Given the description of an element on the screen output the (x, y) to click on. 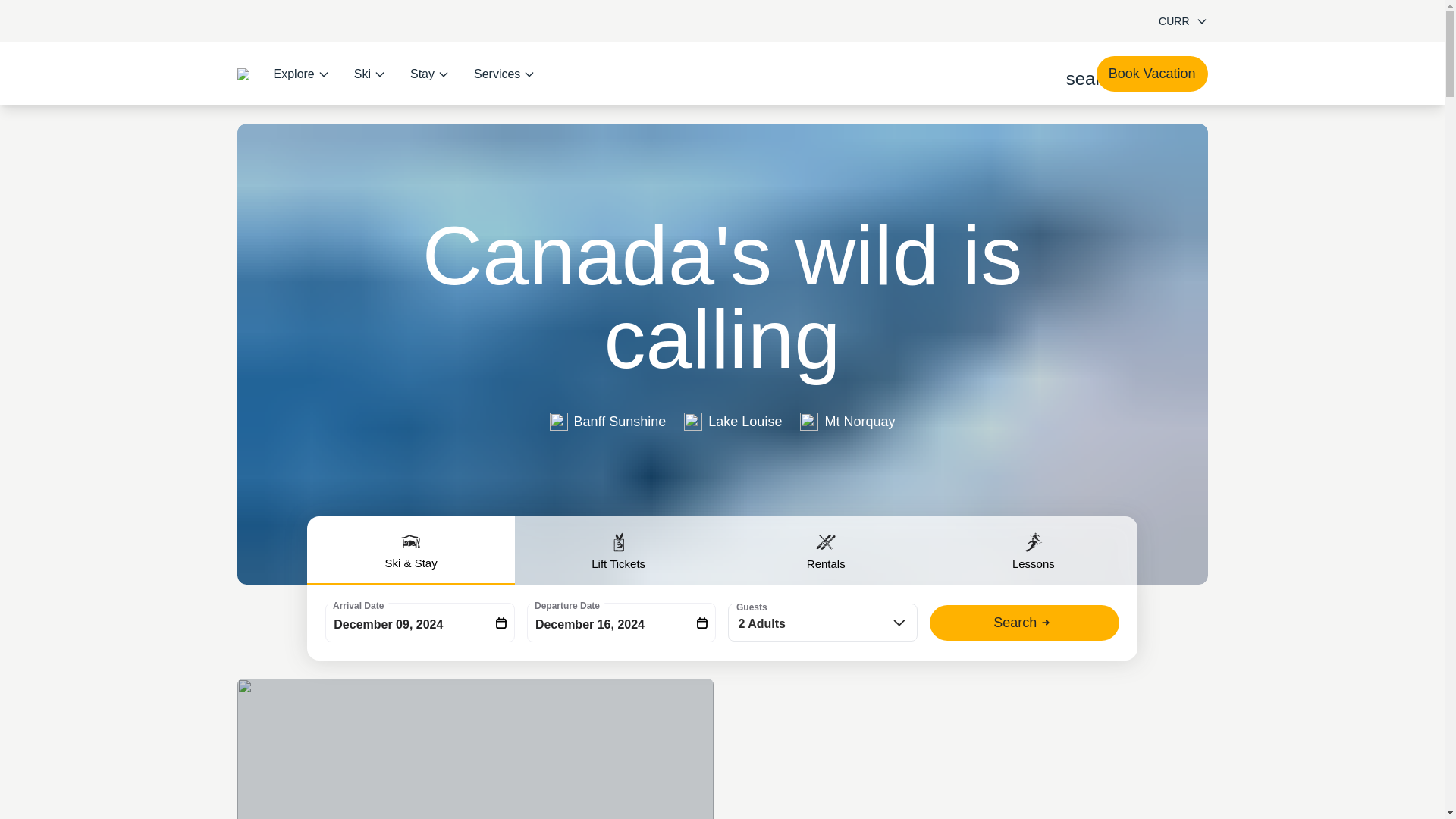
Book Vacation (1152, 73)
Lift Tickets (618, 550)
Rentals (826, 550)
search (1074, 74)
December 09, 2024 (419, 622)
December 16, 2024 (621, 622)
Book Vacation (1152, 73)
Search (1024, 622)
Search (1024, 622)
Lessons (1033, 550)
